Given the description of an element on the screen output the (x, y) to click on. 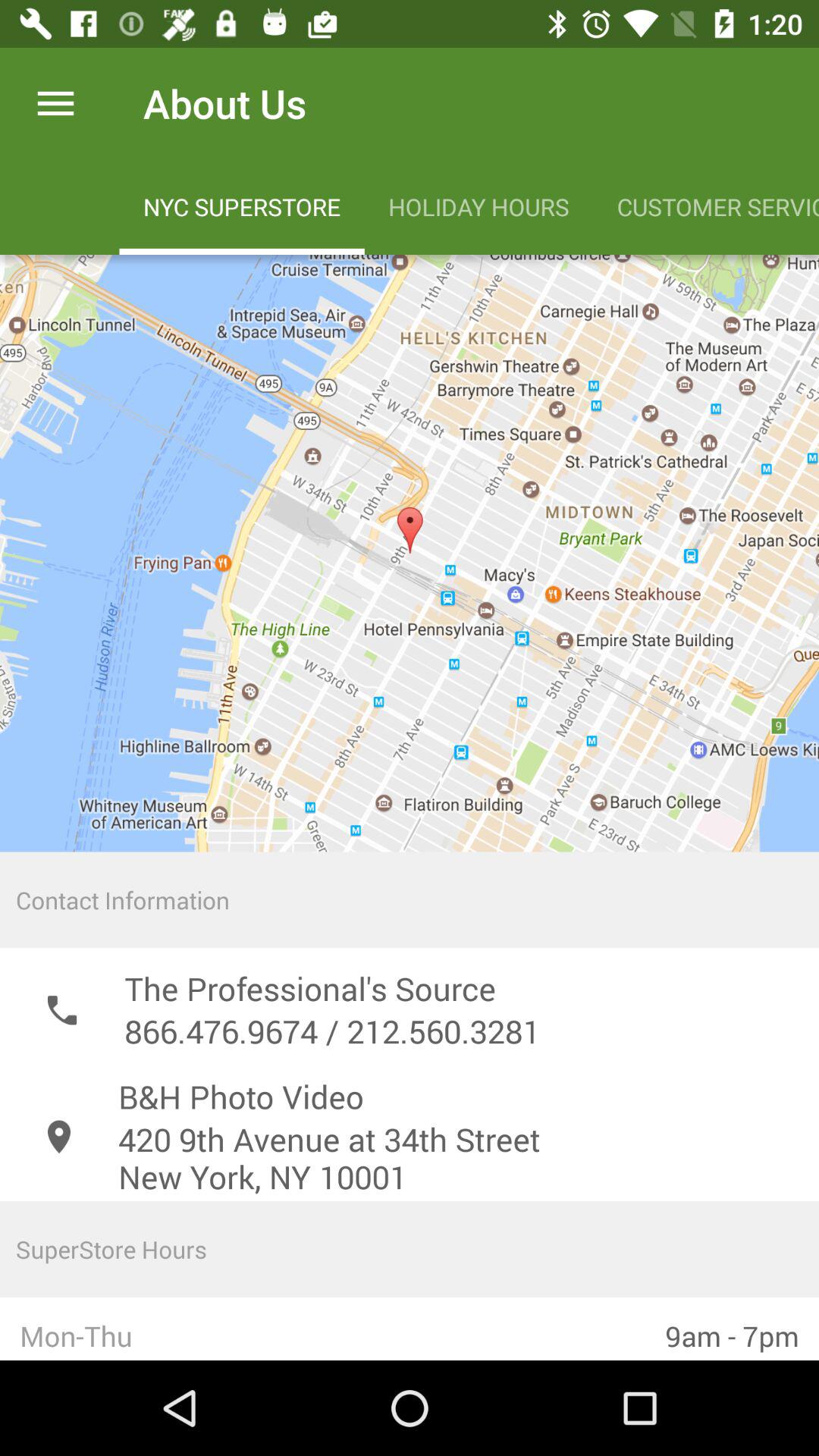
surf the map (409, 552)
